Given the description of an element on the screen output the (x, y) to click on. 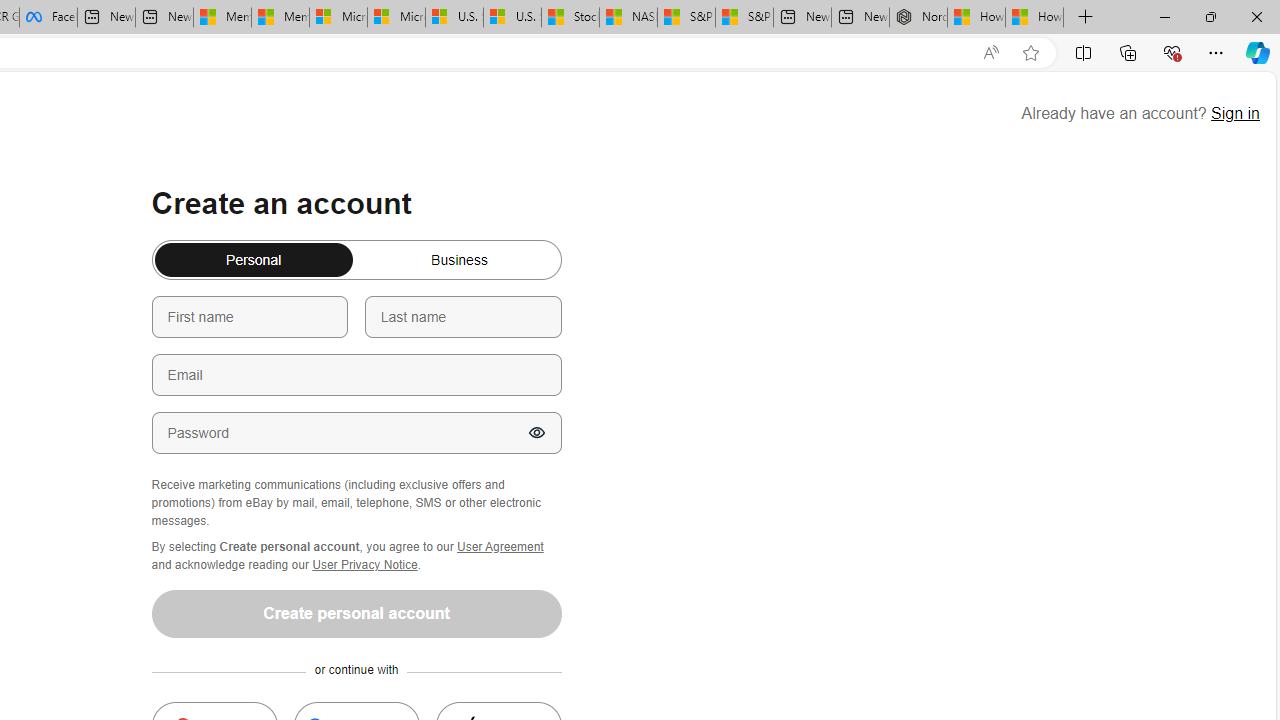
Password (356, 432)
Business (162, 251)
Last name (462, 316)
Show password (536, 433)
